Given the description of an element on the screen output the (x, y) to click on. 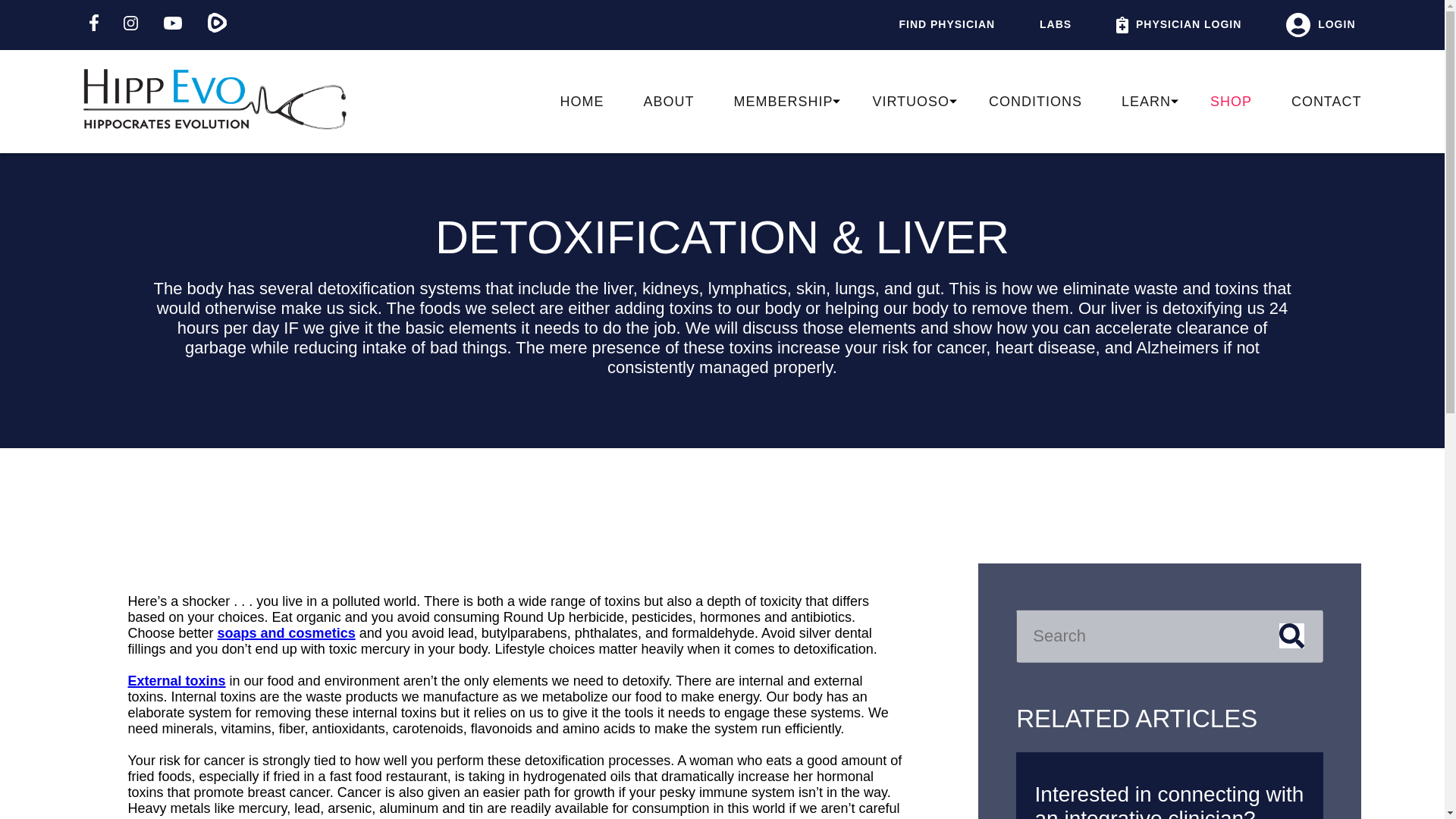
PHYSICIAN LOGIN (1178, 24)
ABOUT (668, 101)
CONTACT (1326, 101)
HOME (582, 101)
MEMBERSHIP (782, 101)
soaps and cosmetics (285, 632)
LABS (1055, 24)
LEARN (1145, 101)
SHOP (1230, 101)
CONDITIONS (1034, 101)
FIND PHYSICIAN (946, 24)
External toxins (176, 680)
LOGIN (1320, 24)
VIRTUOSO (910, 101)
